Given the description of an element on the screen output the (x, y) to click on. 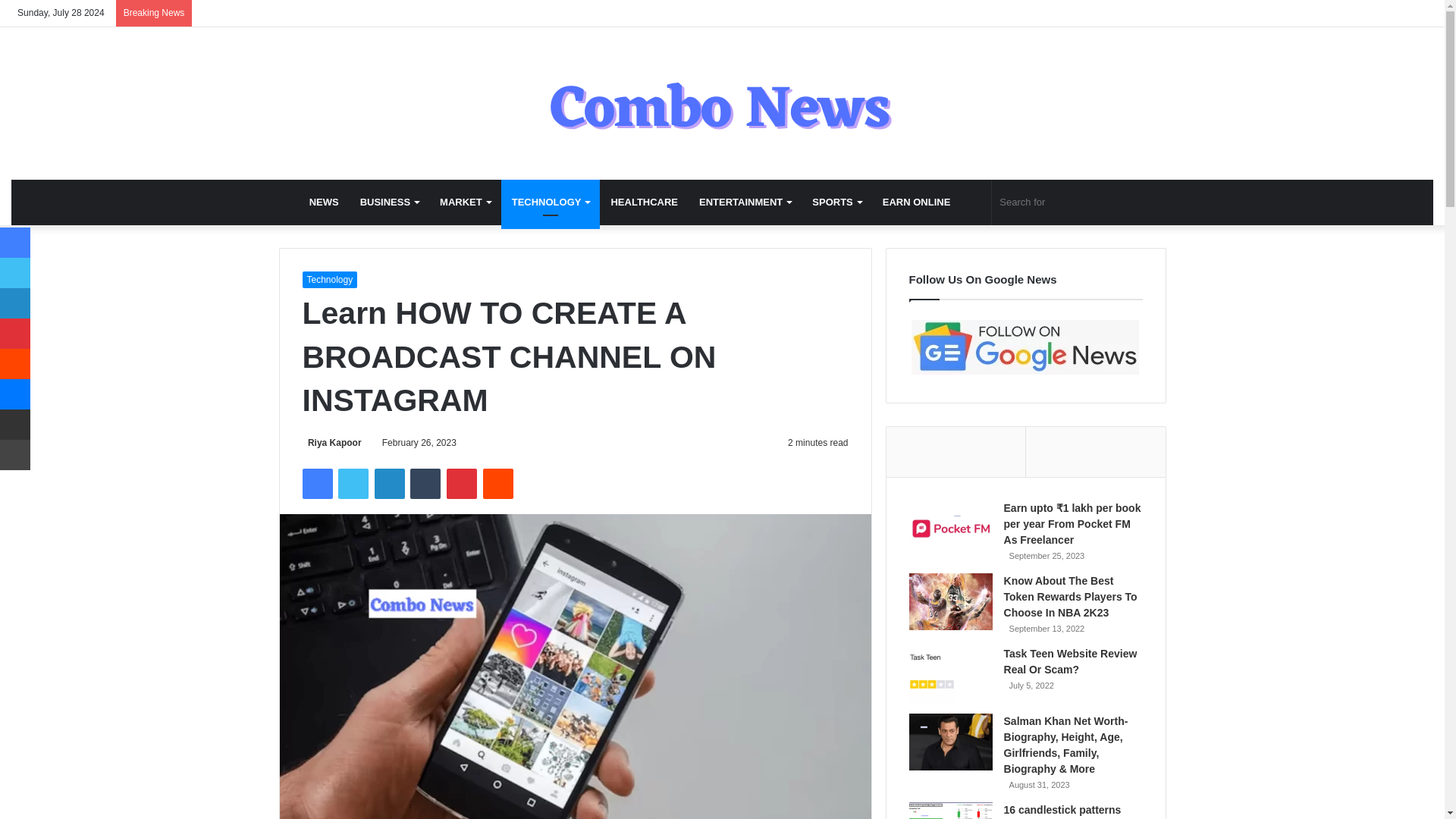
Search for (1068, 202)
ENTERTAINMENT (745, 202)
Pinterest (461, 483)
HEALTHCARE (643, 202)
Combo News (721, 103)
MARKET (464, 202)
LinkedIn (389, 483)
BUSINESS (389, 202)
TECHNOLOGY (549, 202)
NEWS (323, 202)
Tumblr (425, 483)
Facebook (316, 483)
Riya Kapoor (331, 442)
Reddit (498, 483)
Twitter (352, 483)
